Given the description of an element on the screen output the (x, y) to click on. 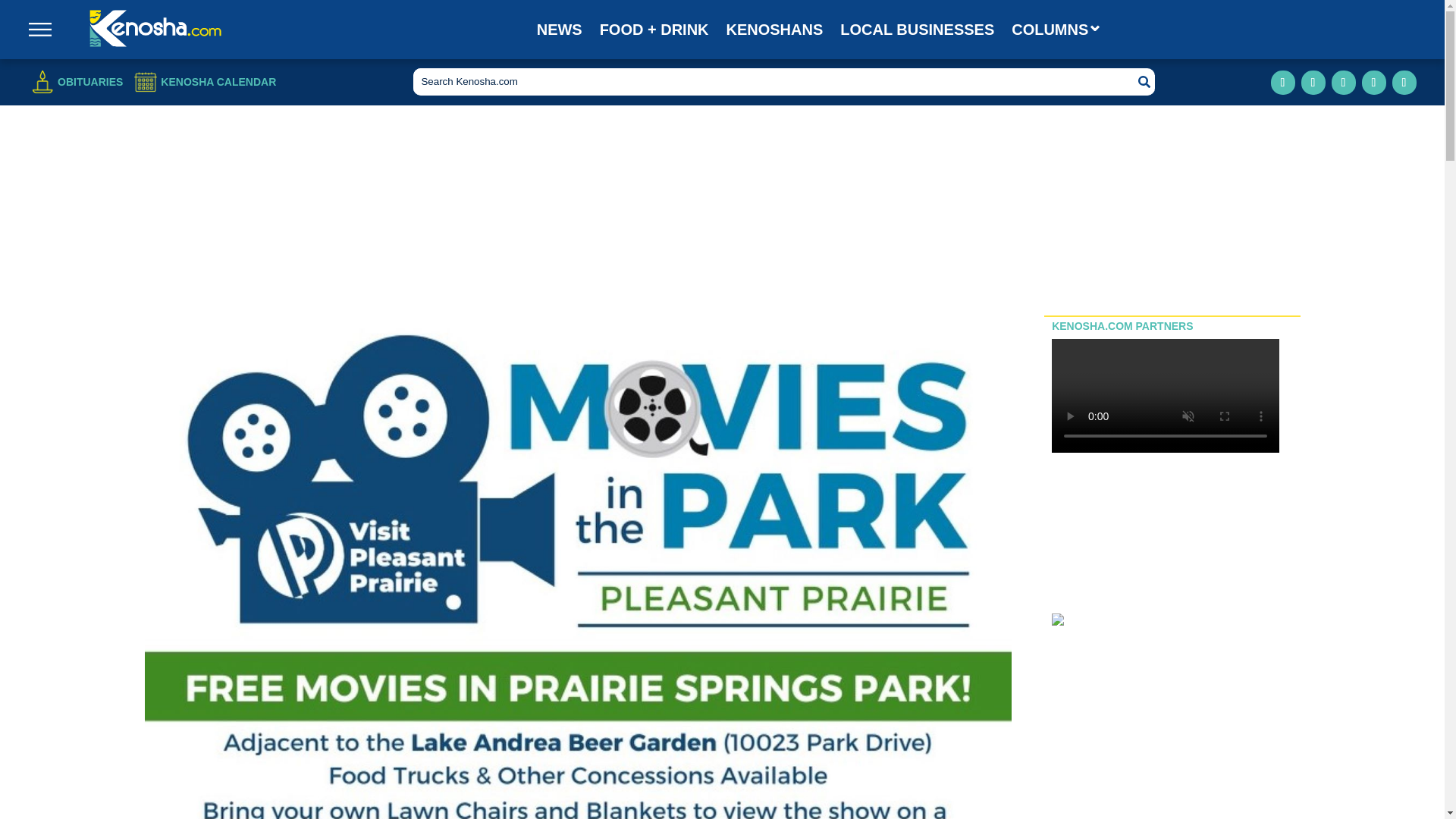
Follow on Instagram (1312, 82)
Follow on X (1373, 82)
Follow on Facebook (1283, 82)
Follow on LinkedIn (1343, 82)
Follow on Spotify (1403, 82)
